Given the description of an element on the screen output the (x, y) to click on. 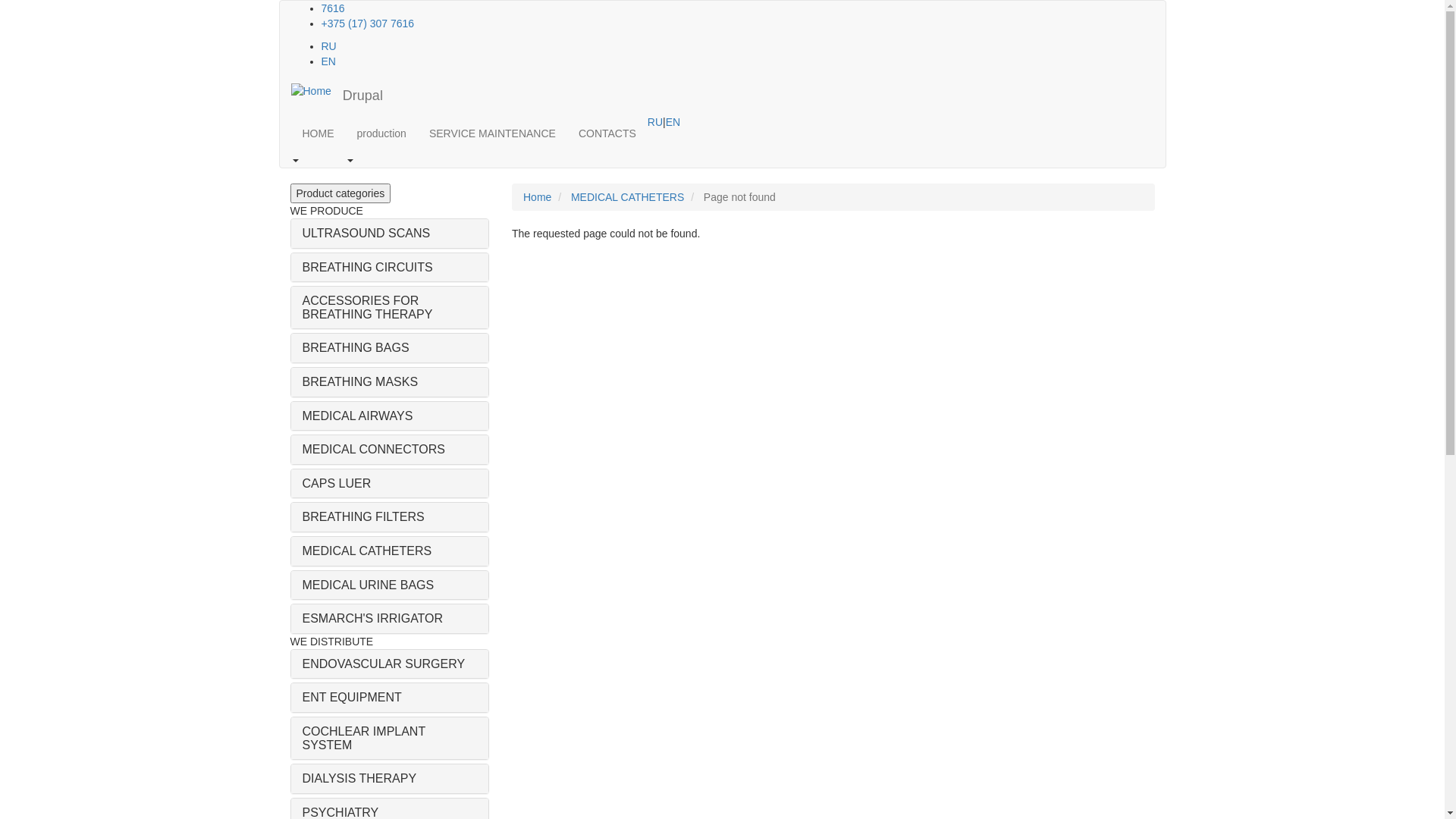
ULTRASOUND SCANS Element type: text (365, 232)
ENDOVASCULAR SURGERY Element type: text (382, 663)
ACCESSORIES FOR BREATHING THERAPY Element type: text (366, 307)
MEDICAL CONNECTORS Element type: text (372, 448)
RU Element type: text (328, 46)
BREATHING CIRCUITS Element type: text (366, 266)
ENT EQUIPMENT Element type: text (351, 696)
+375 (17) 307 7616 Element type: text (367, 23)
COCHLEAR IMPLANT SYSTEM Element type: text (362, 737)
MEDICAL CATHETERS Element type: text (627, 197)
DIALYSIS THERAPY Element type: text (358, 777)
Product categories Element type: text (339, 193)
Home Element type: text (537, 197)
Home Element type: hover (311, 90)
MEDICAL AIRWAYS Element type: text (356, 415)
Drupal Element type: text (362, 95)
MEDICAL CATHETERS Element type: text (366, 550)
HOME Element type: text (318, 133)
BREATHING MASKS Element type: text (359, 381)
BREATHING BAGS Element type: text (354, 347)
CAPS LUER Element type: text (335, 482)
BREATHING FILTERS Element type: text (362, 516)
ESMARCH'S IRRIGATOR Element type: text (371, 617)
SERVICE MAINTENANCE Element type: text (492, 133)
CONTACTS Element type: text (607, 133)
EN Element type: text (672, 122)
MEDICAL URINE BAGS Element type: text (367, 584)
RU Element type: text (654, 122)
EN Element type: text (328, 61)
7616 Element type: text (333, 8)
Skip to main content Element type: text (0, 0)
production Element type: text (381, 133)
